Given the description of an element on the screen output the (x, y) to click on. 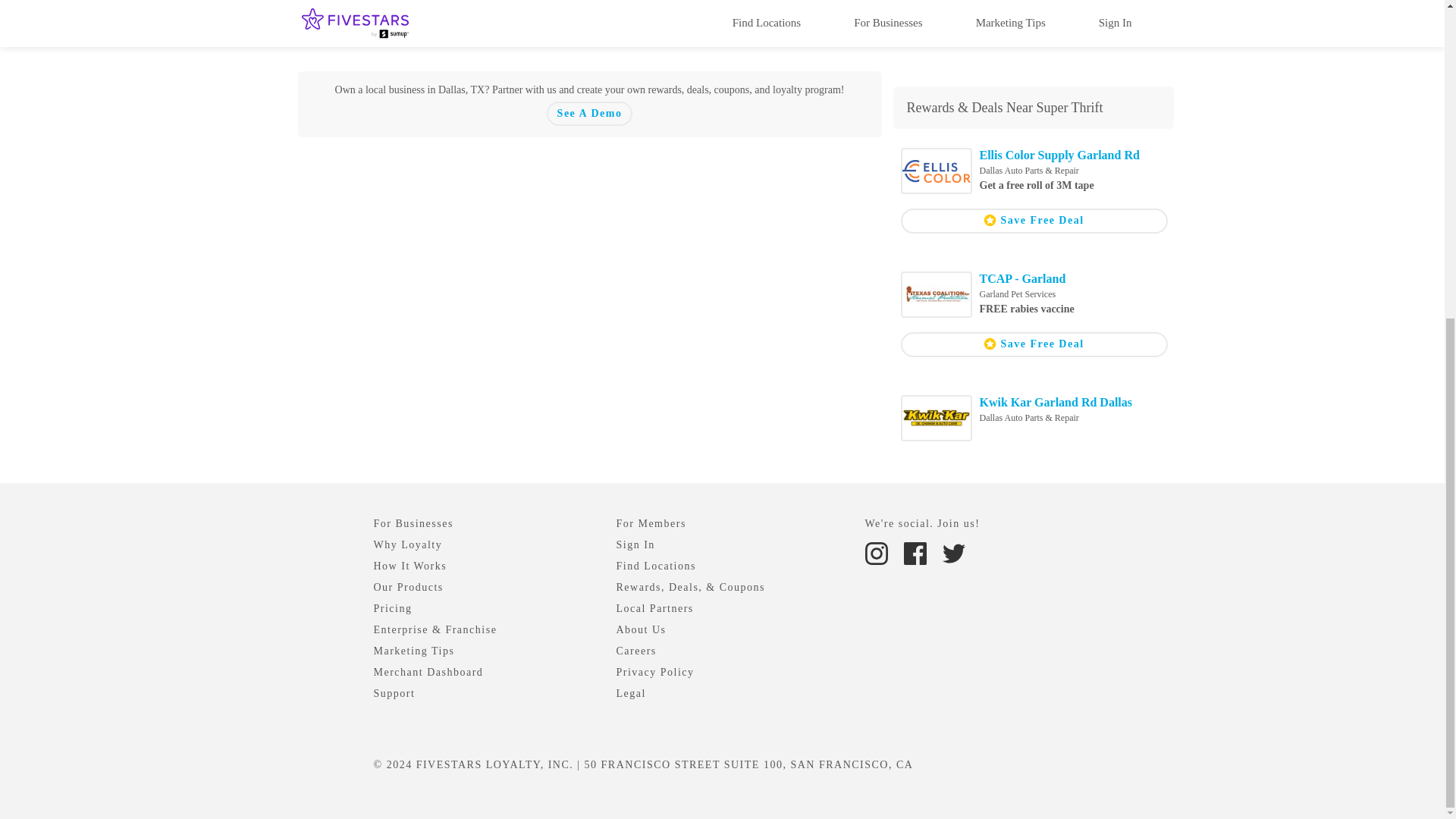
Merchant Dashboard and Analytics (427, 672)
Our Products (407, 586)
Fivestars Twitter (953, 552)
Super Thrift Facebook (916, 13)
Support and Customer Service (393, 693)
Find Locations (655, 565)
Fivestars Facebook (917, 552)
Save Free Deal (1034, 344)
Why Loyalty (407, 544)
Ellis Color Supply Garland Rd (1059, 154)
